Given the description of an element on the screen output the (x, y) to click on. 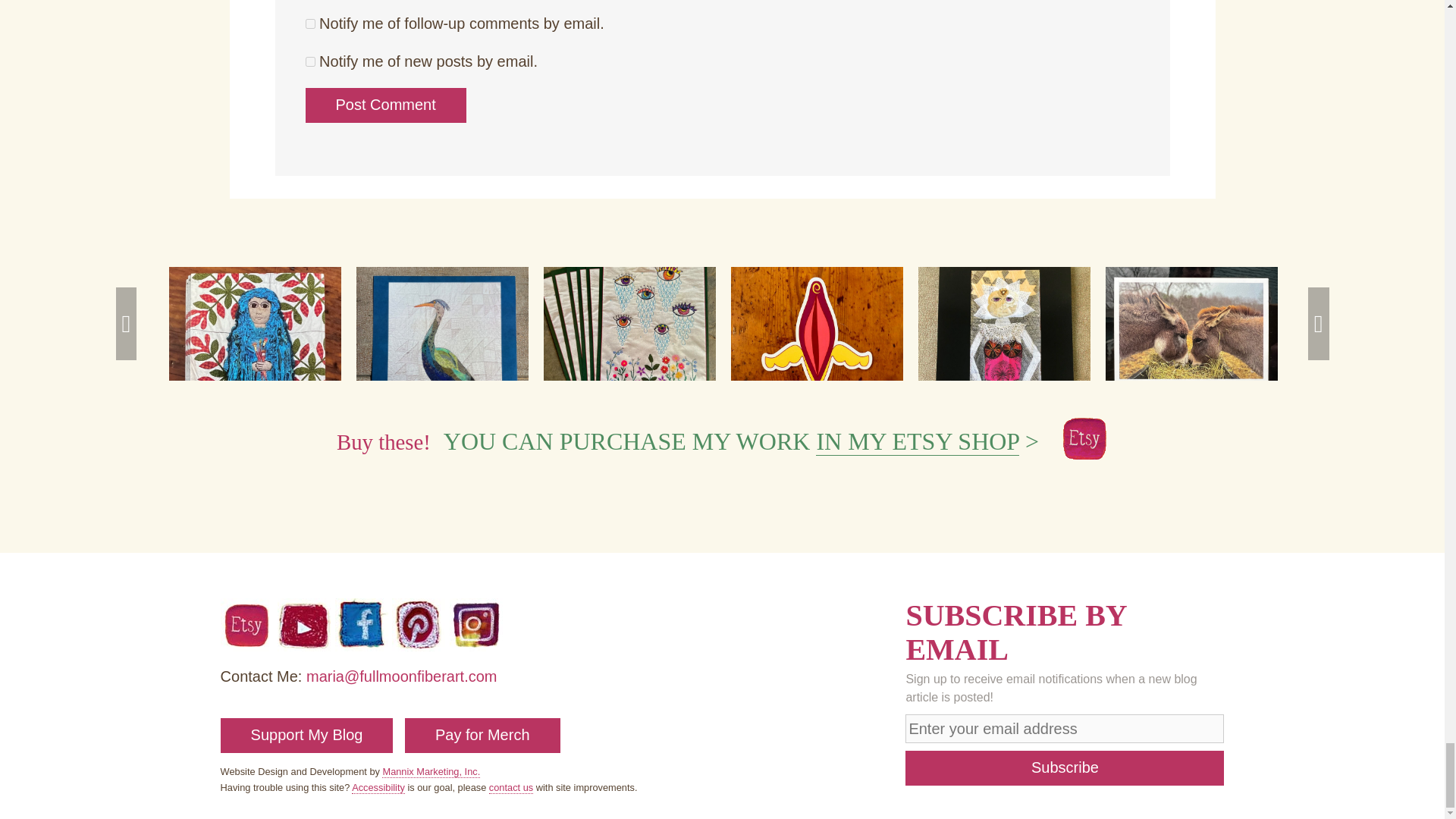
Post Comment (384, 104)
Instagram (475, 646)
Etsy (247, 646)
Facebook (361, 646)
Pinterest (418, 646)
YouTube (304, 646)
subscribe (309, 23)
subscribe (309, 61)
